Given the description of an element on the screen output the (x, y) to click on. 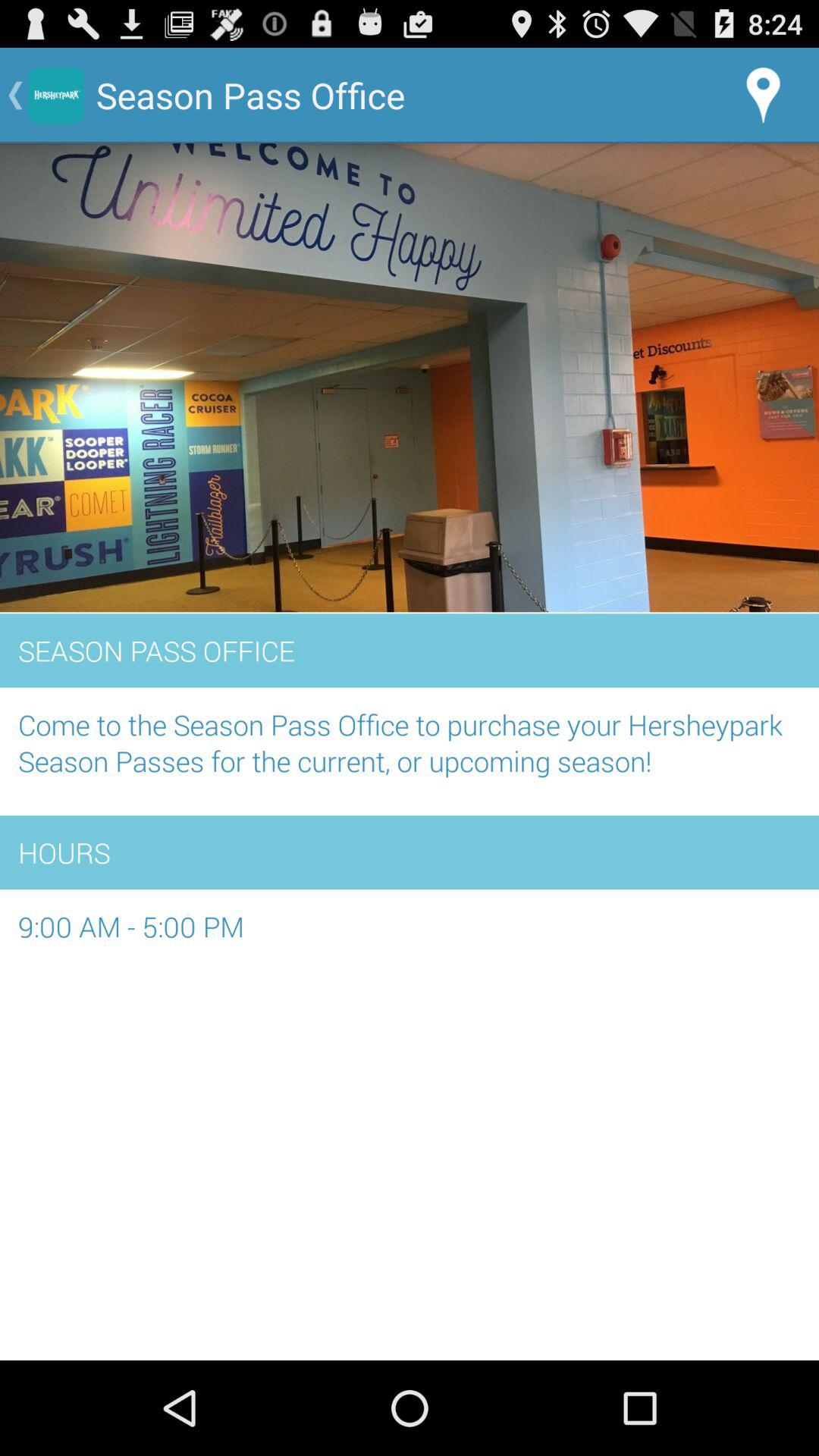
press hours item (409, 852)
